Given the description of an element on the screen output the (x, y) to click on. 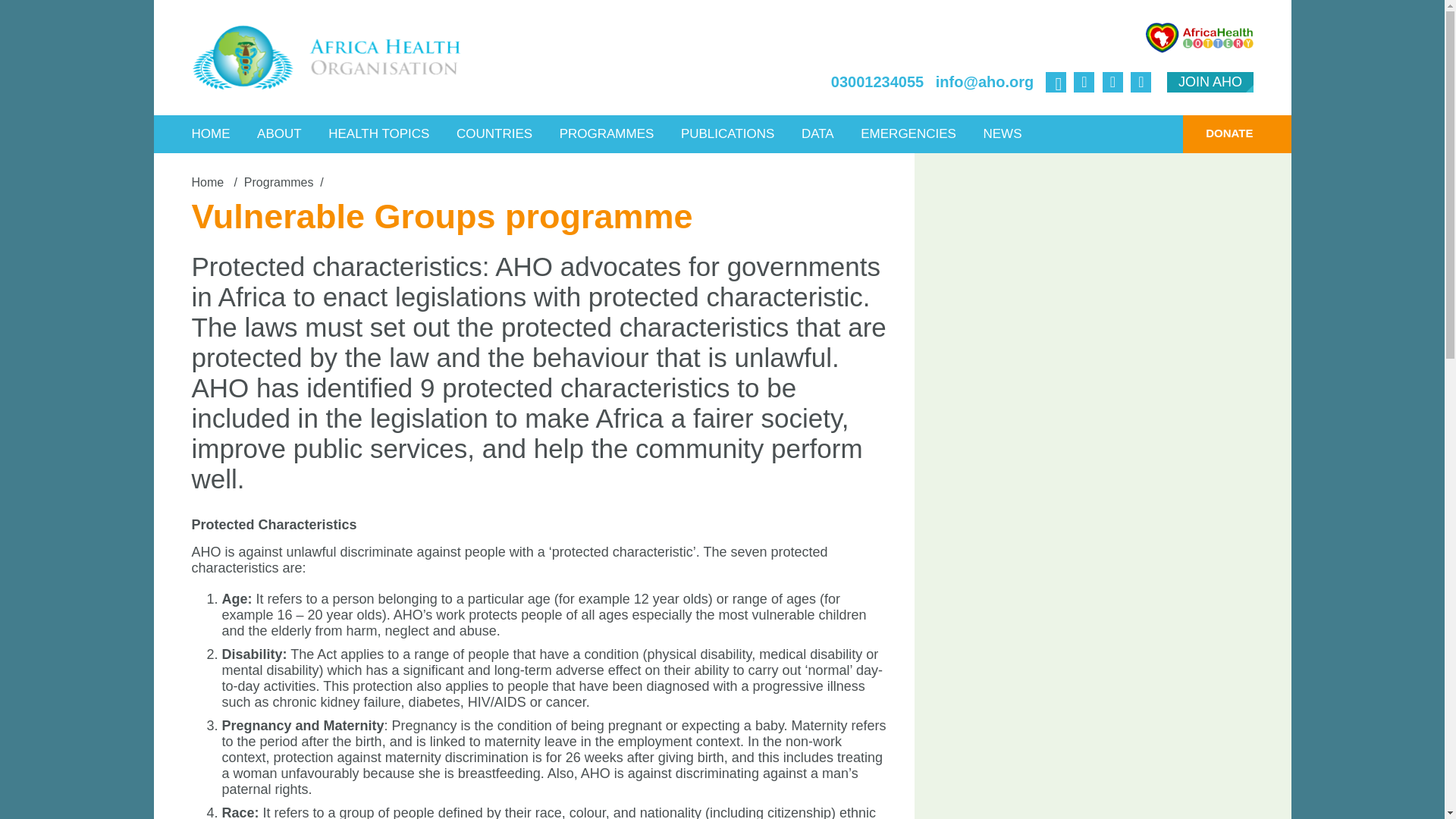
HEALTH TOPICS (379, 134)
PUBLICATIONS (727, 134)
DATA (817, 134)
03001234055 (877, 81)
Go to Africa Health Organisation. (208, 182)
EMERGENCIES (908, 134)
Go to Programmes. (279, 182)
Home (208, 182)
PROGRAMMES (606, 134)
DONATE (1217, 134)
HOME (210, 134)
JOIN AHO (1210, 82)
ABOUT (279, 134)
NEWS (1001, 134)
Programmes (279, 182)
